Given the description of an element on the screen output the (x, y) to click on. 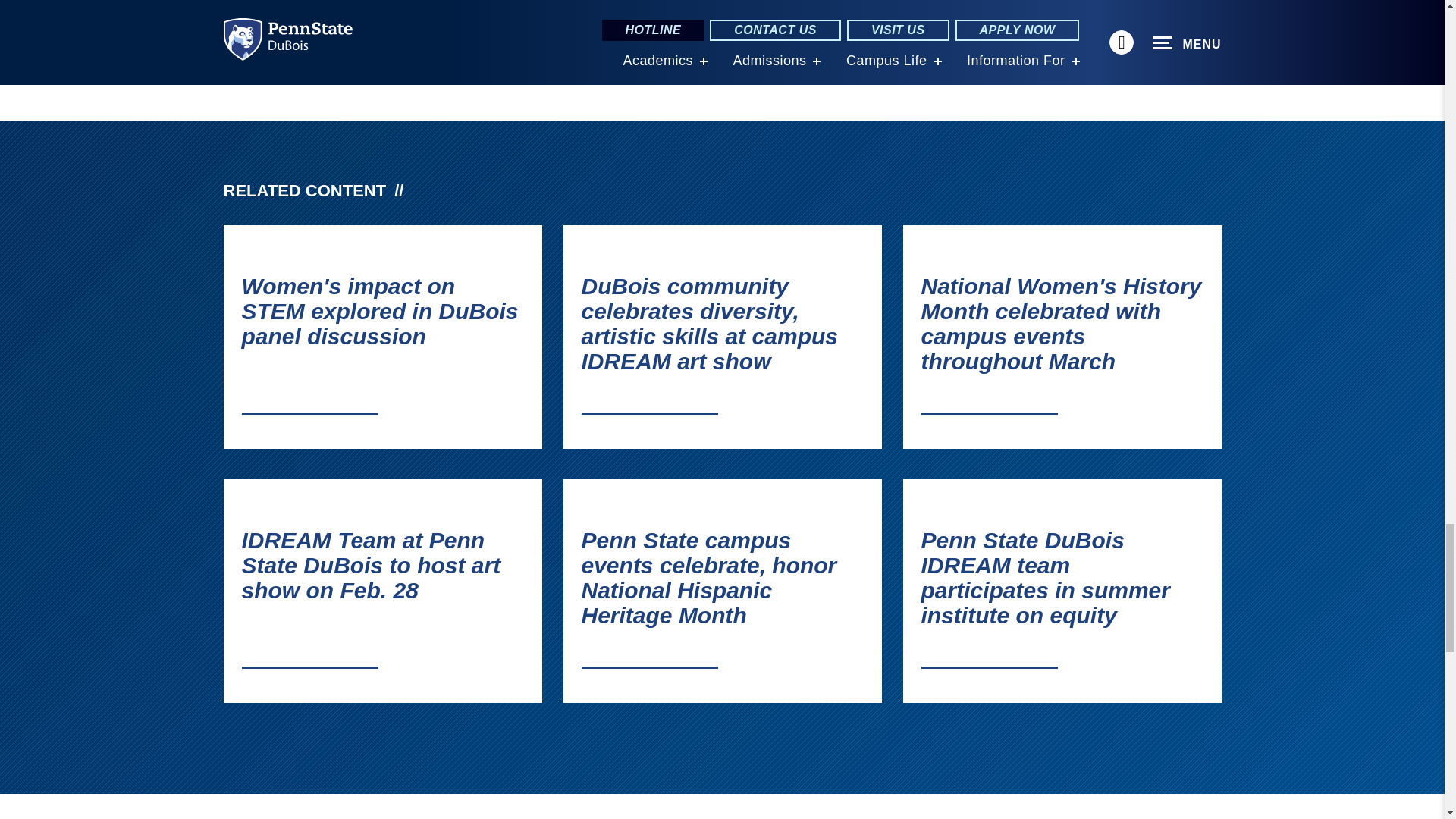
Content tagged with diversity (733, 11)
Content tagged with Pennsylvania (620, 11)
